Given the description of an element on the screen output the (x, y) to click on. 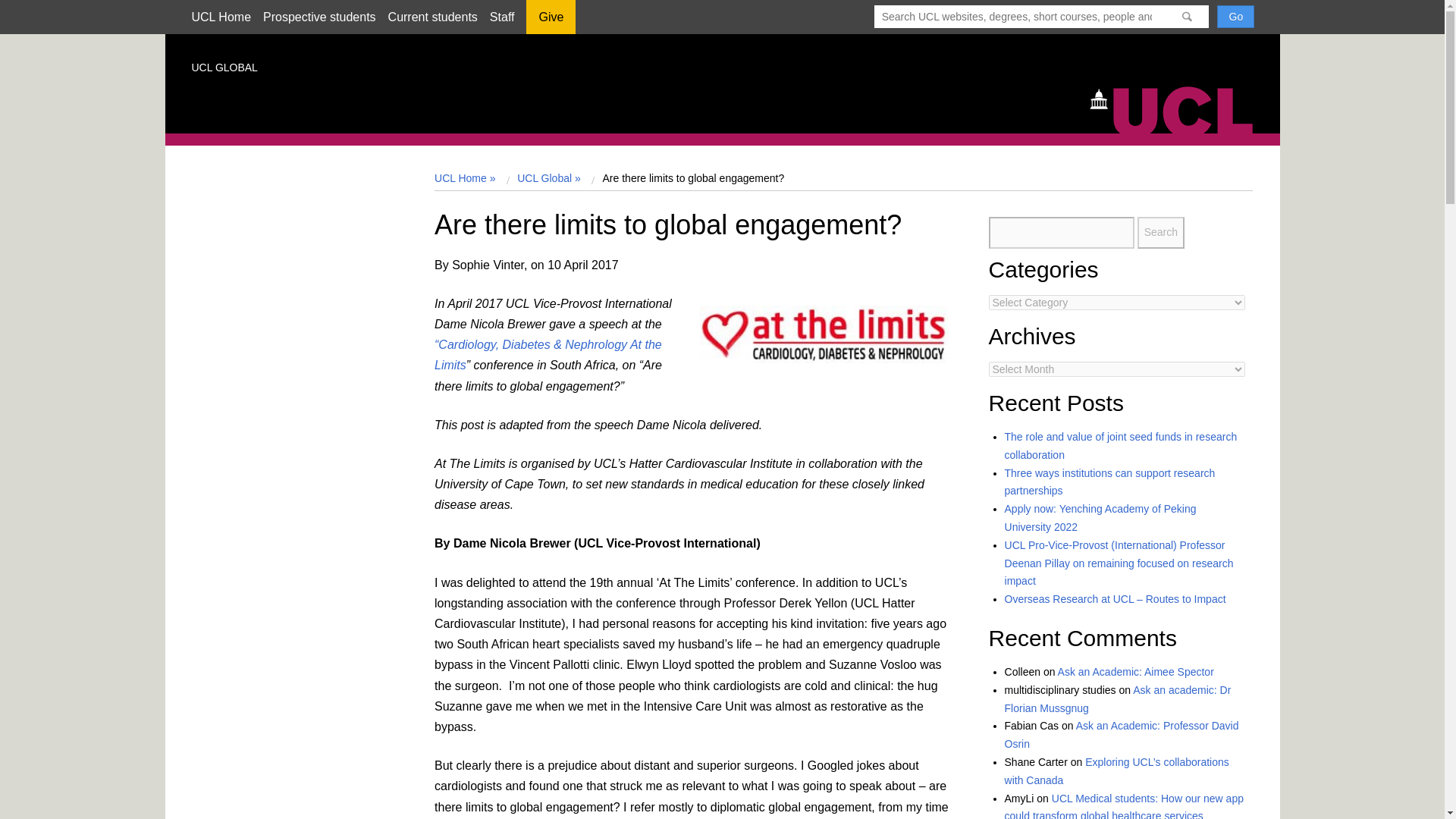
Go (1235, 15)
Ask an Academic: Aimee Spector (1136, 671)
Home (1178, 108)
Go (1235, 15)
Three ways institutions can support research partnerships (1109, 481)
Go (1235, 15)
Ask an academic: Dr Florian Mussgnug (1117, 698)
Ask an Academic: Professor David Osrin (1121, 734)
Give (550, 22)
UCL Home (220, 16)
Apply now: Yenching Academy of Peking University 2022 (1100, 517)
Staff (502, 16)
Current students (432, 16)
